Given the description of an element on the screen output the (x, y) to click on. 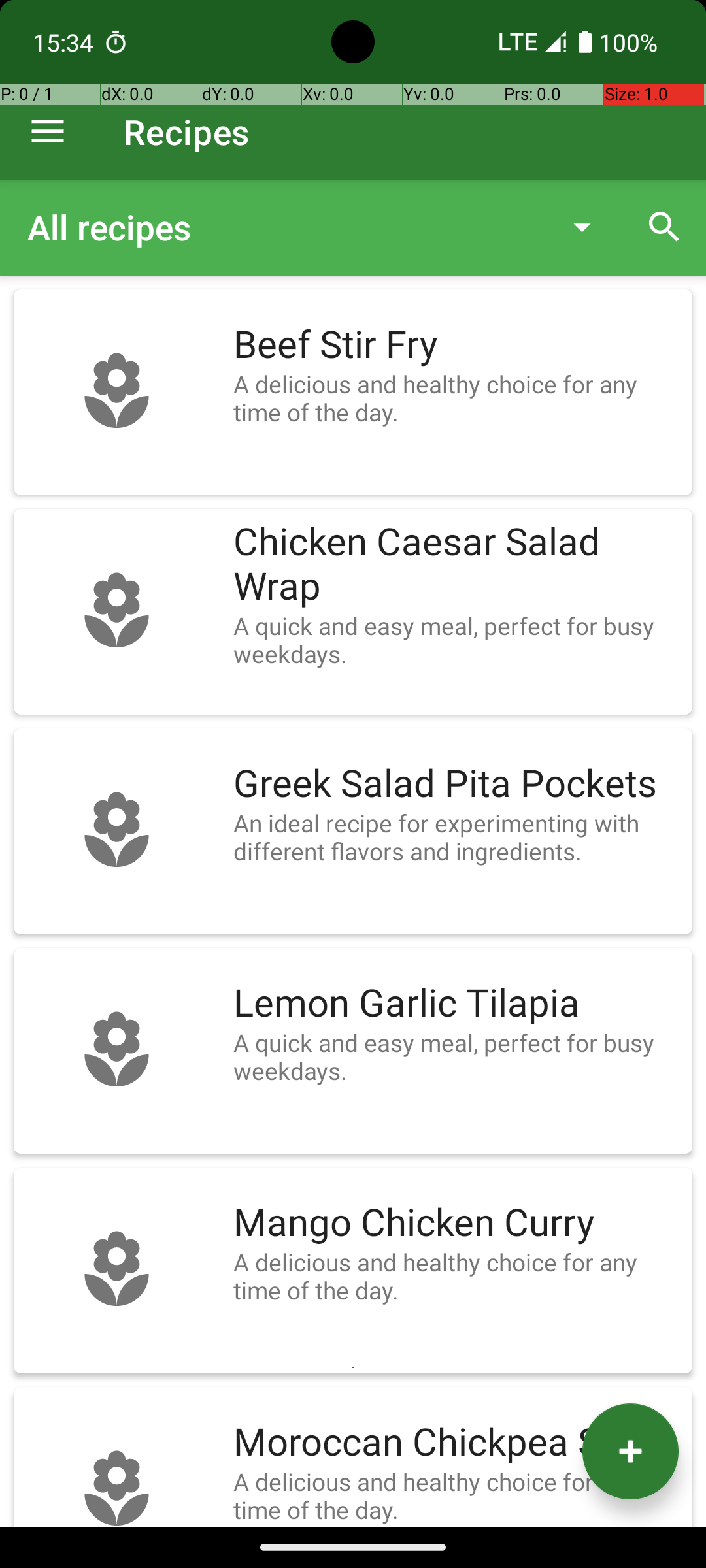
Mango Chicken Curry Element type: android.widget.TextView (455, 1222)
